Given the description of an element on the screen output the (x, y) to click on. 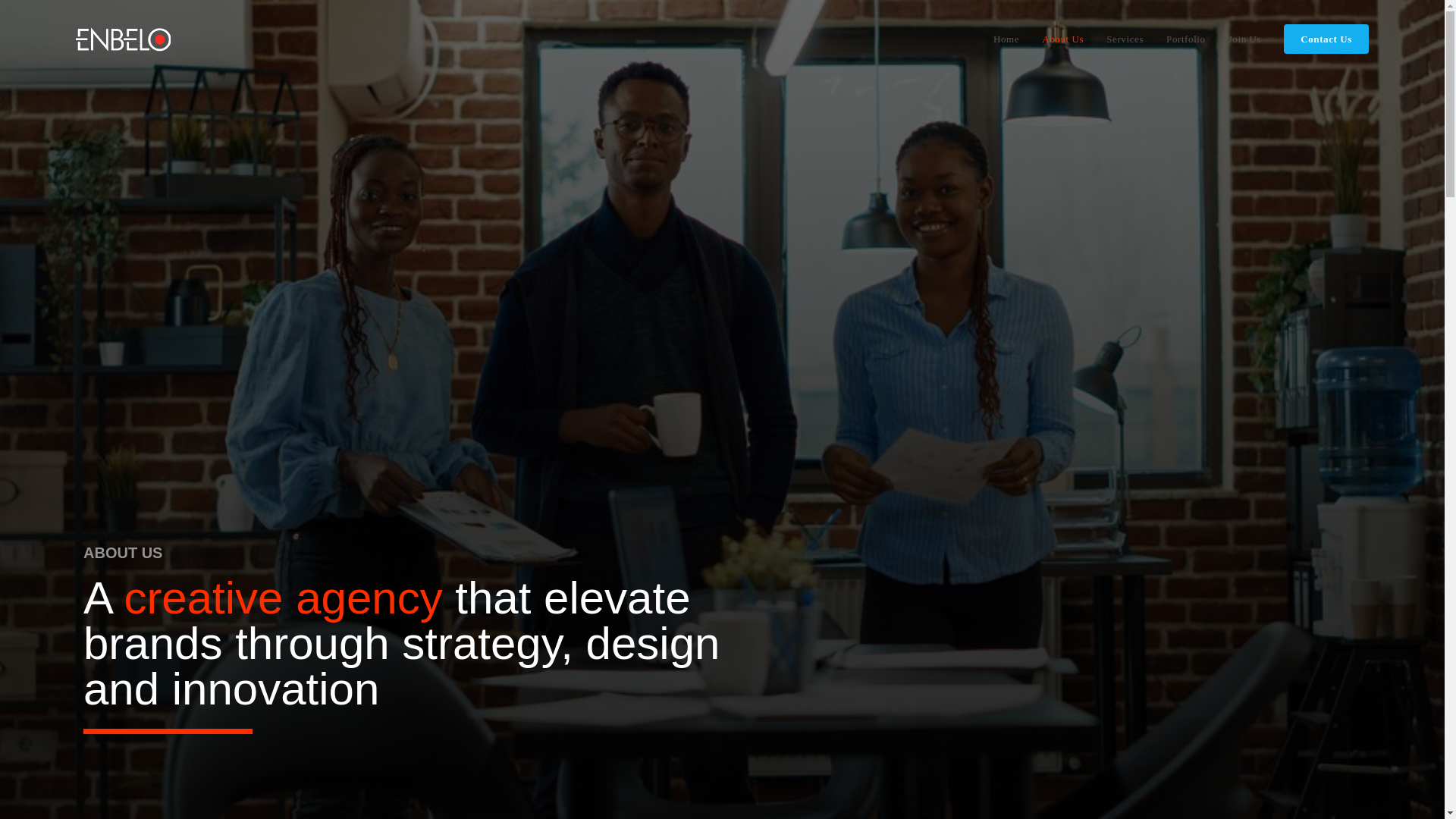
Services (1124, 39)
Join Us (1244, 39)
Portfolio (1185, 39)
Contact Us (1326, 39)
Home (1005, 39)
About Us (1062, 39)
